Given the description of an element on the screen output the (x, y) to click on. 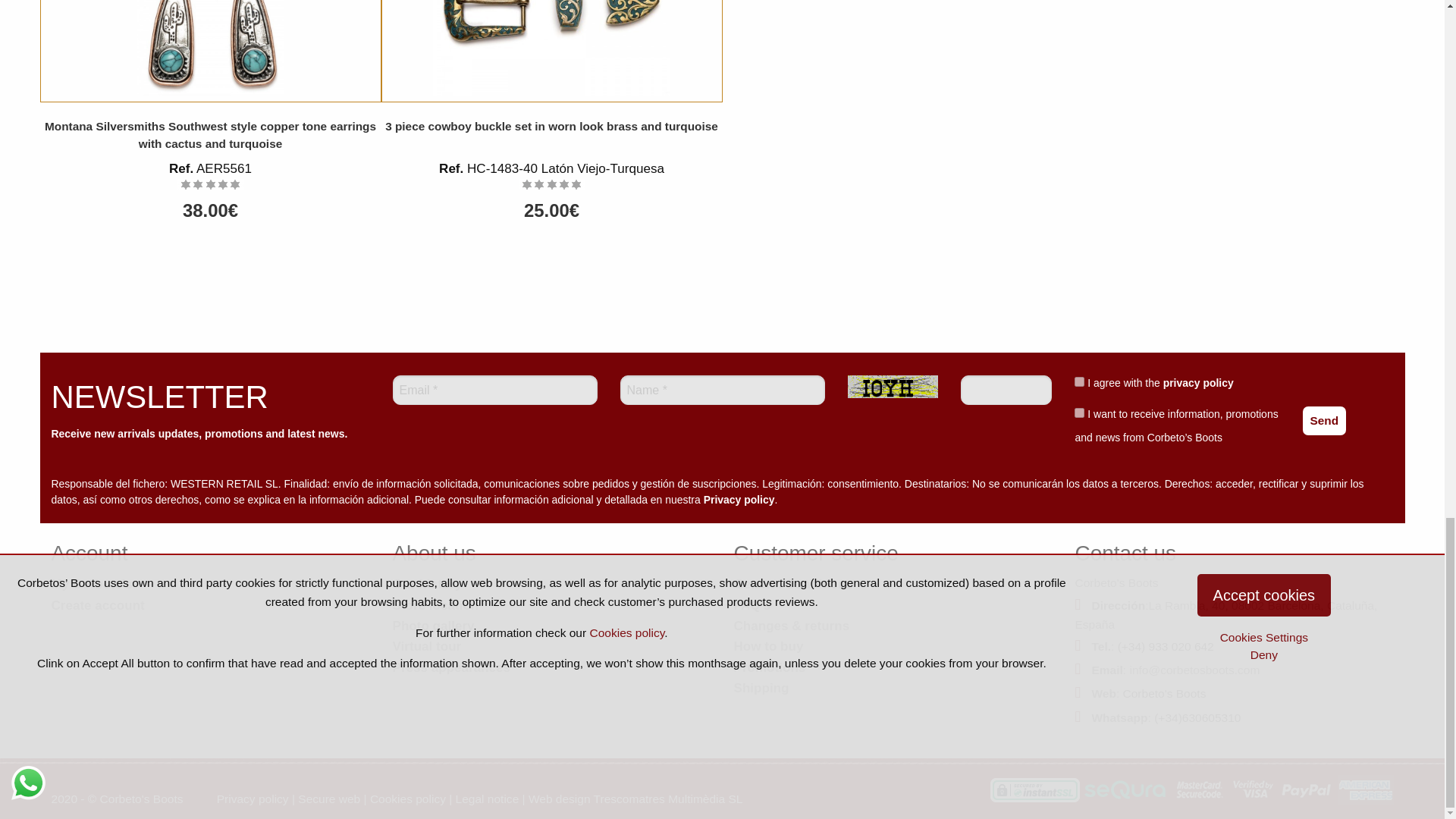
Send (1324, 420)
on (1079, 412)
Estoy de acuerdo (1079, 381)
